Given the description of an element on the screen output the (x, y) to click on. 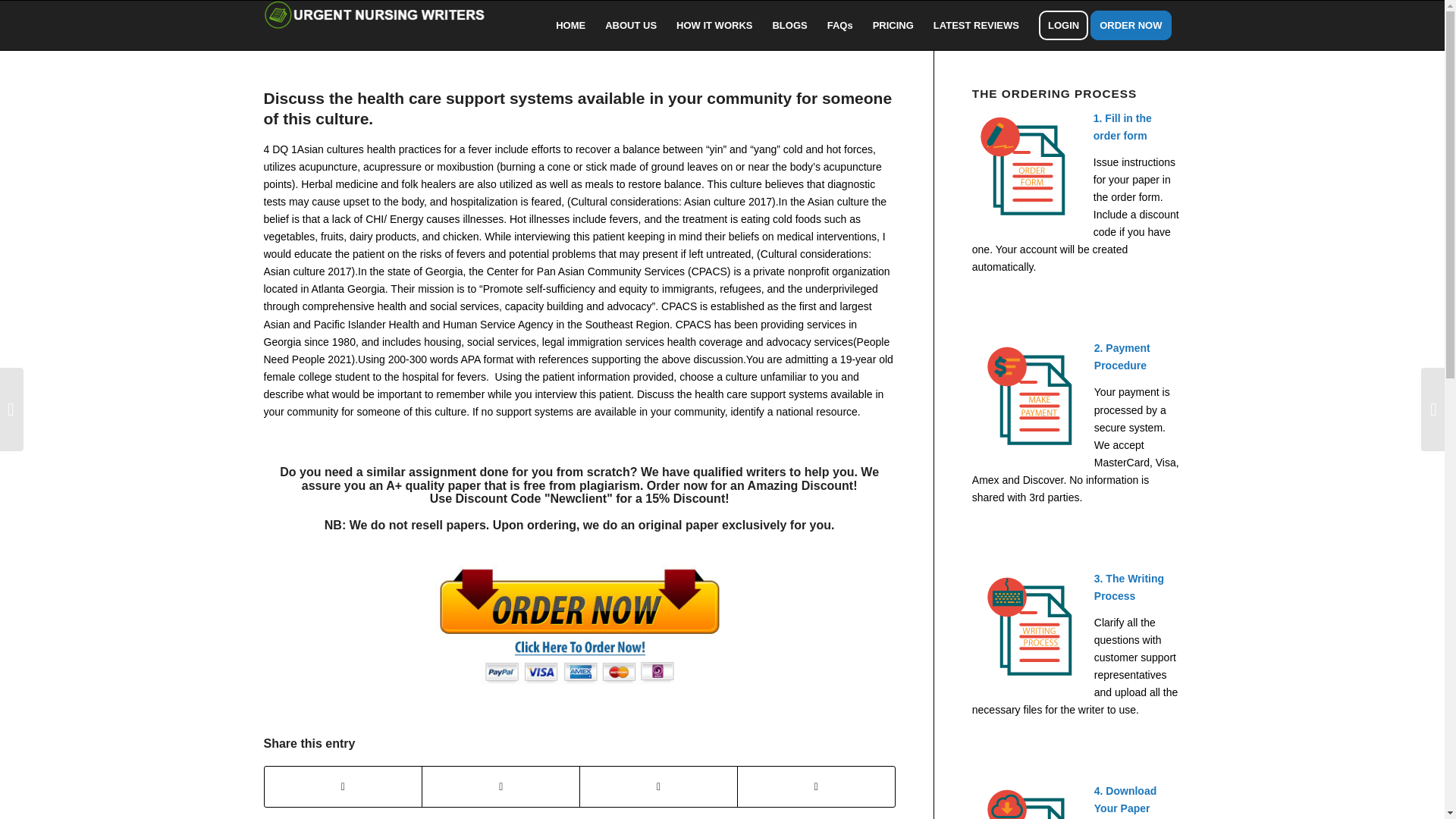
HOW IT WORKS (713, 24)
LOGIN (1063, 24)
HOME (570, 24)
BLOGS (788, 24)
LATEST REVIEWS (976, 24)
PRICING (893, 24)
ORDER NOW (1135, 24)
FAQs (839, 24)
ABOUT US (630, 24)
